Given the description of an element on the screen output the (x, y) to click on. 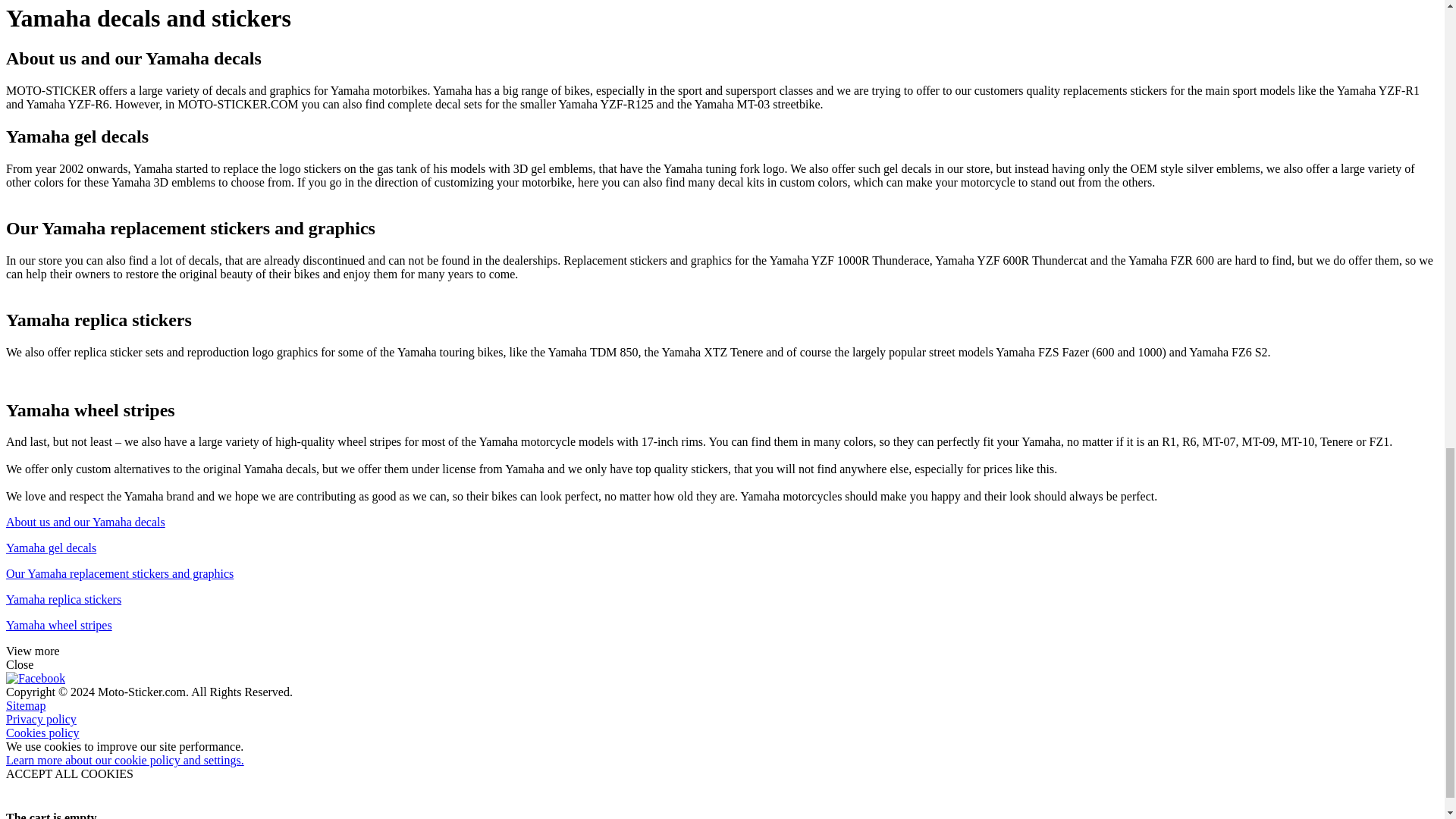
Facebook (35, 678)
